Given the description of an element on the screen output the (x, y) to click on. 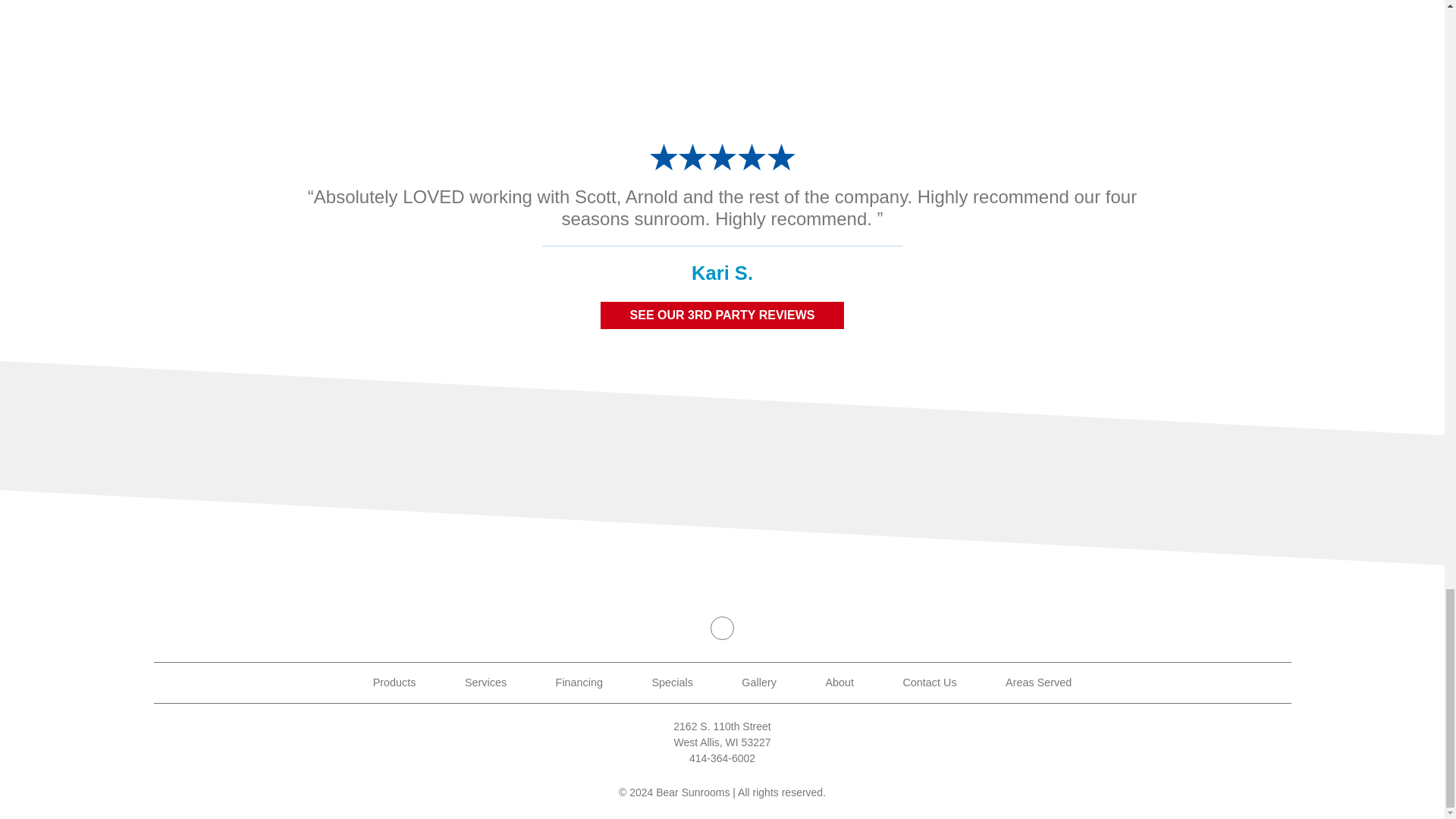
SEE OUR 3RD PARTY REVIEWS (721, 315)
Facebook (721, 627)
